Given the description of an element on the screen output the (x, y) to click on. 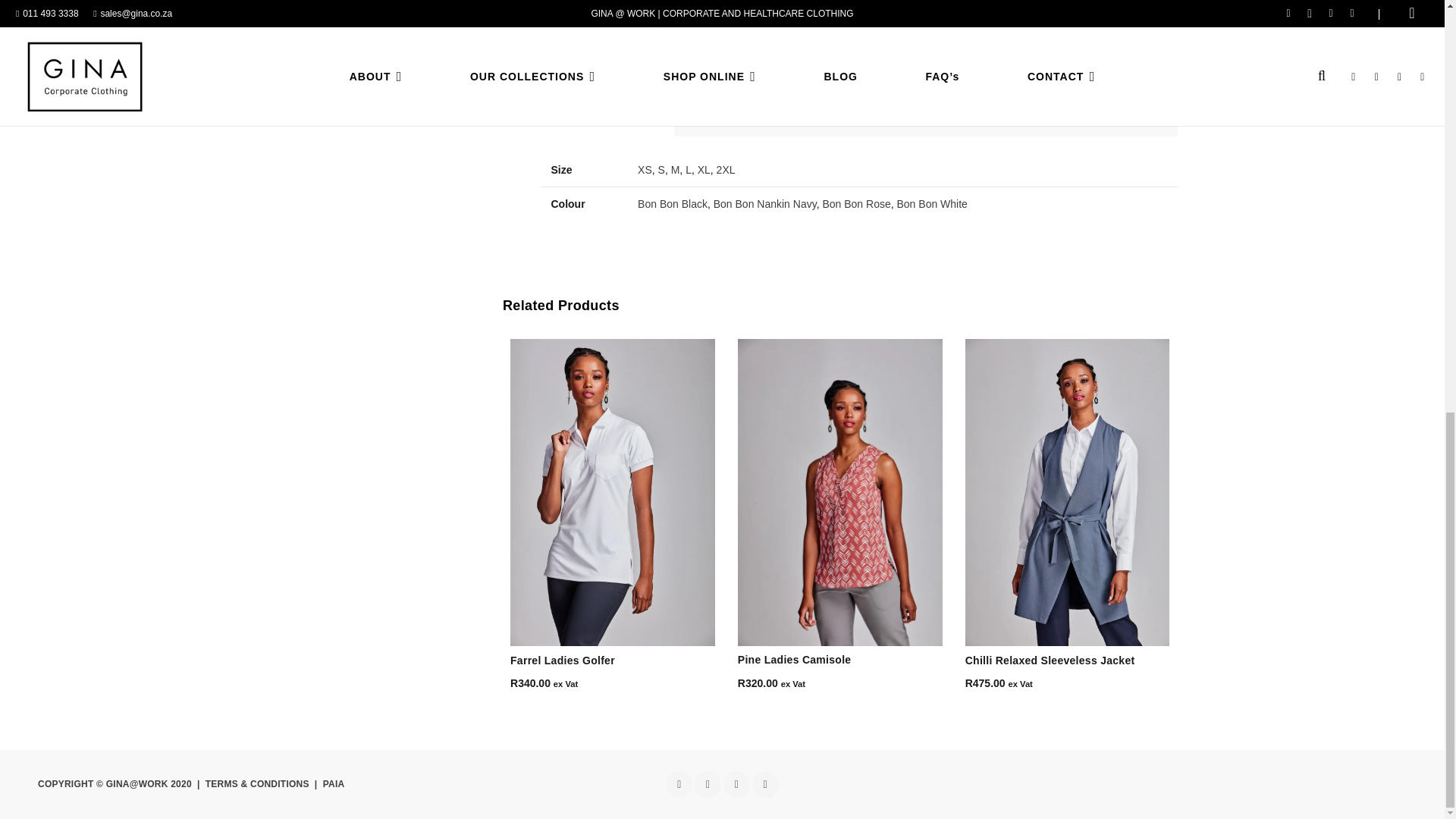
Pimento Drawing Large (660, 31)
